Given the description of an element on the screen output the (x, y) to click on. 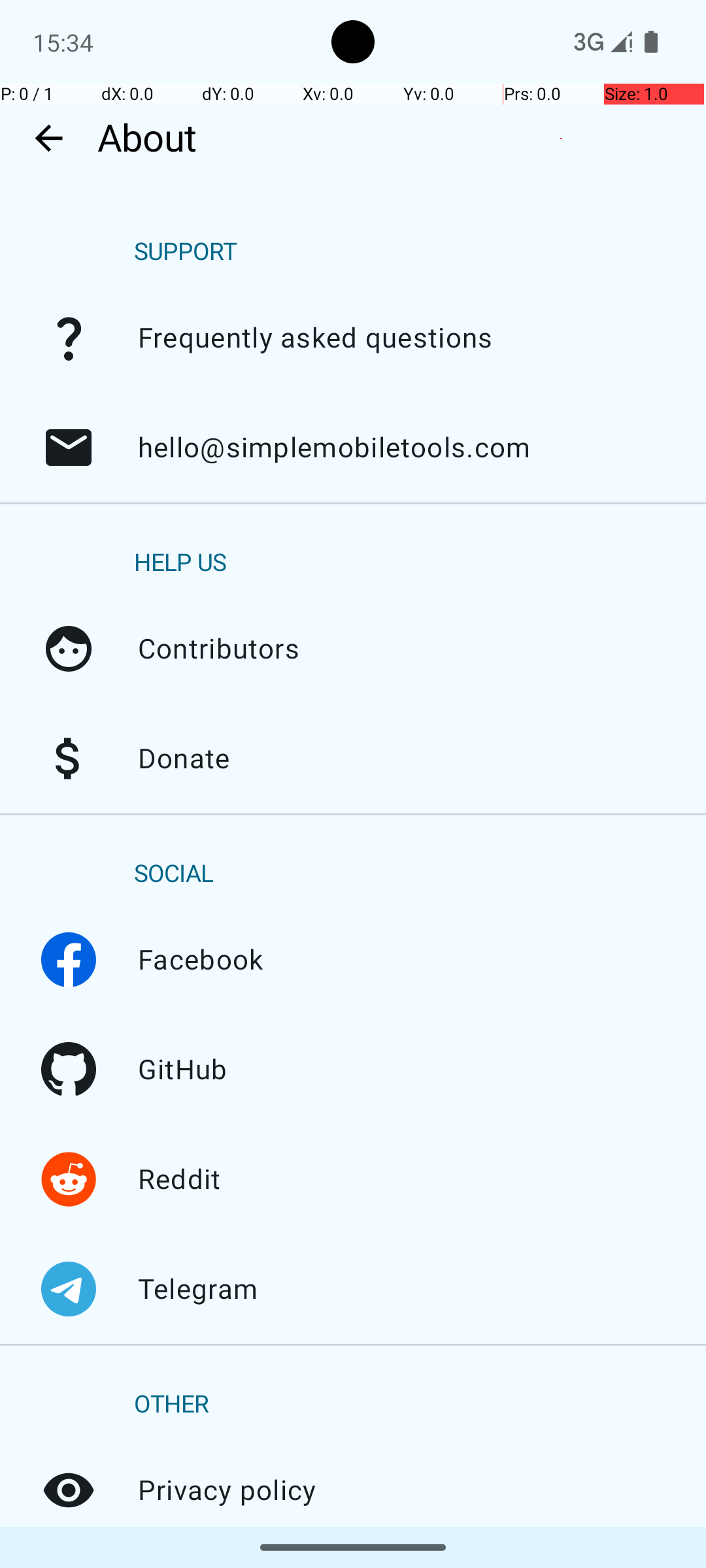
SUPPORT Element type: android.widget.TextView (185, 251)
HELP US Element type: android.widget.TextView (180, 562)
SOCIAL Element type: android.widget.TextView (173, 873)
OTHER Element type: android.widget.TextView (171, 1404)
Frequently asked questions Element type: android.view.View (68, 337)
hello@simplemobiletools.com Element type: android.view.View (68, 447)
Donate Element type: android.view.View (68, 758)
Facebook Element type: android.view.View (68, 959)
GitHub Element type: android.view.View (68, 1069)
Reddit Element type: android.view.View (68, 1178)
Telegram Element type: android.view.View (68, 1288)
Privacy policy Element type: android.view.View (68, 1489)
